Given the description of an element on the screen output the (x, y) to click on. 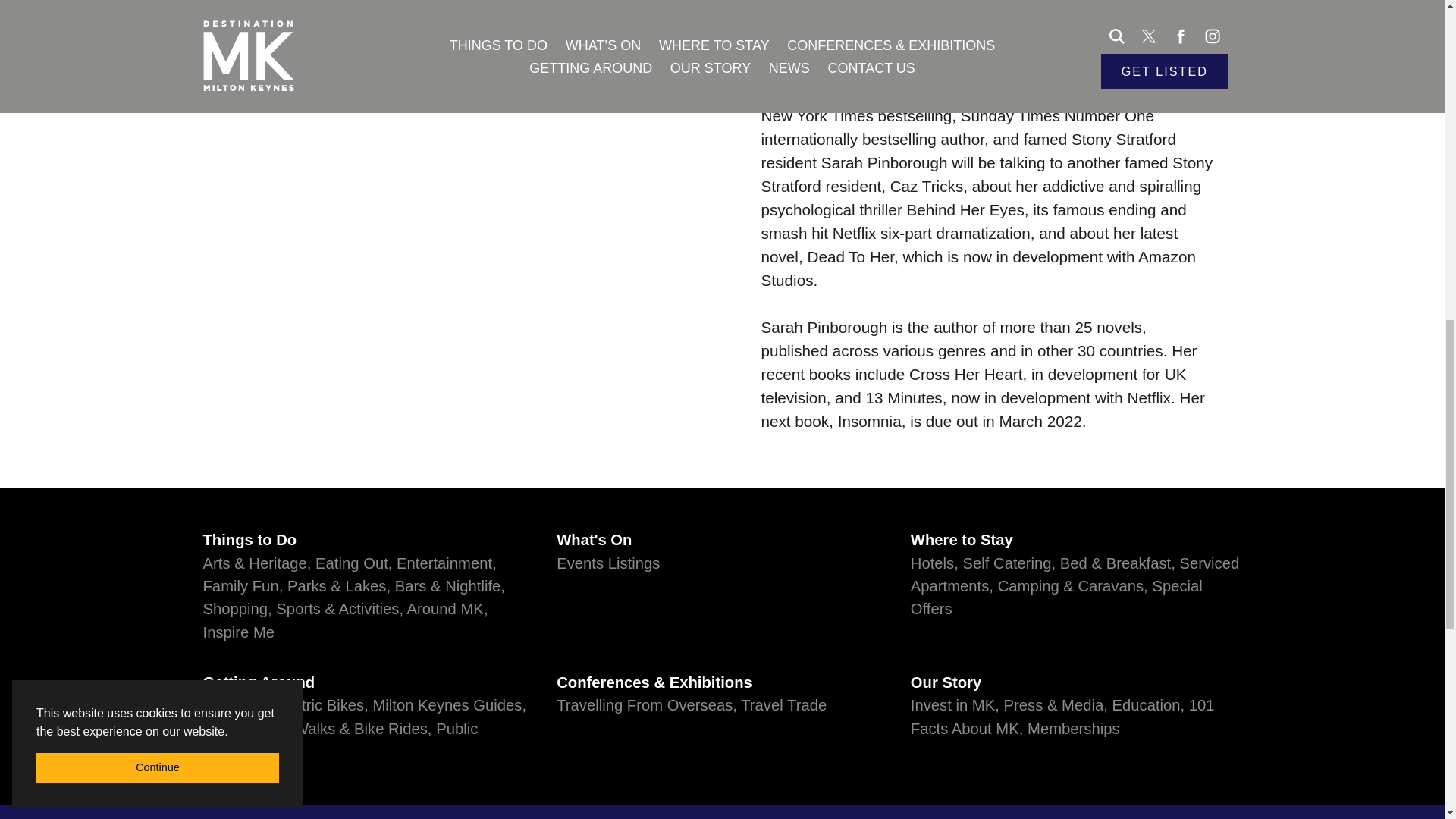
Things to Do (368, 539)
Eating Out (353, 563)
